Given the description of an element on the screen output the (x, y) to click on. 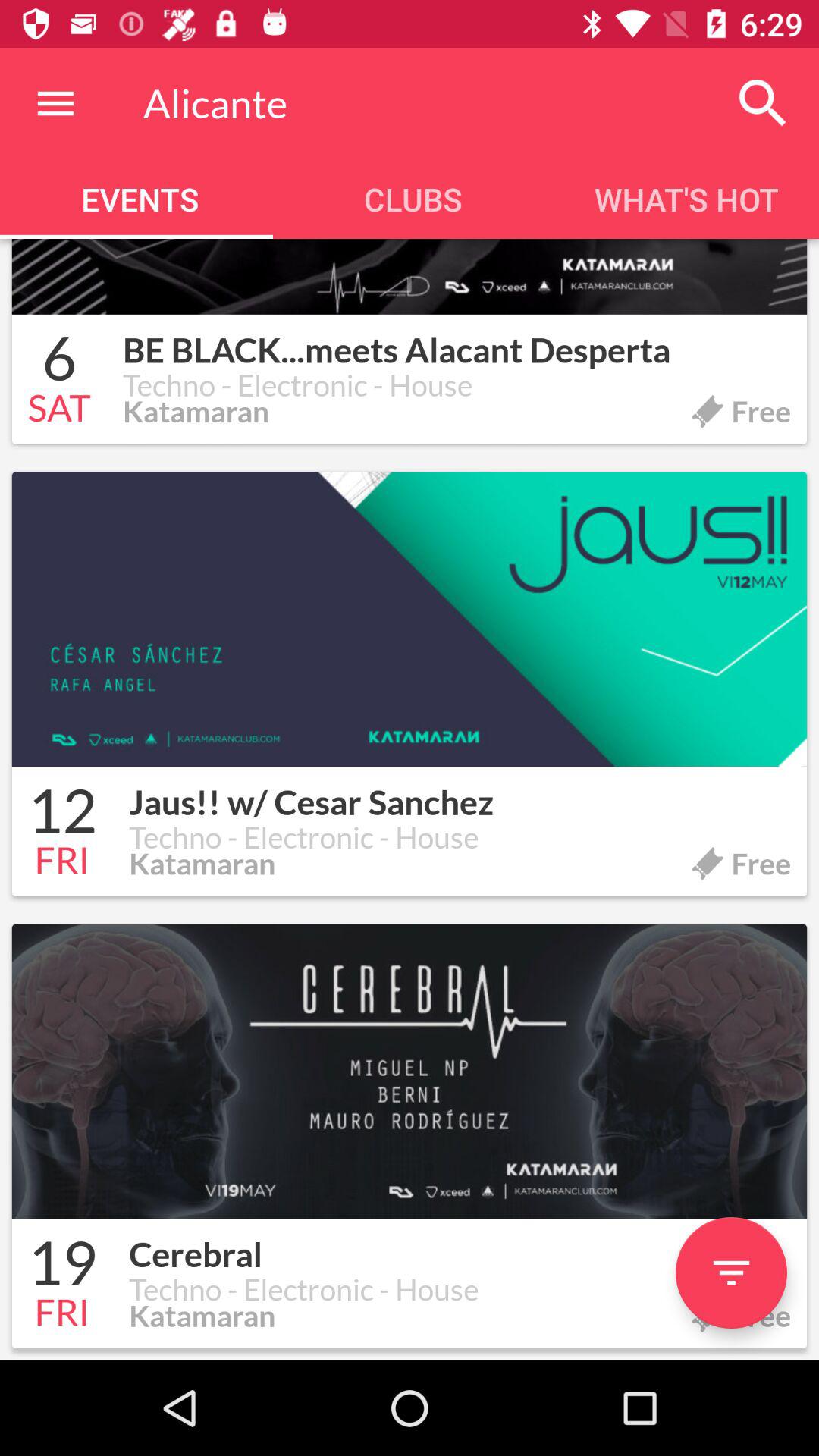
tap item to the right of alicante item (763, 103)
